Given the description of an element on the screen output the (x, y) to click on. 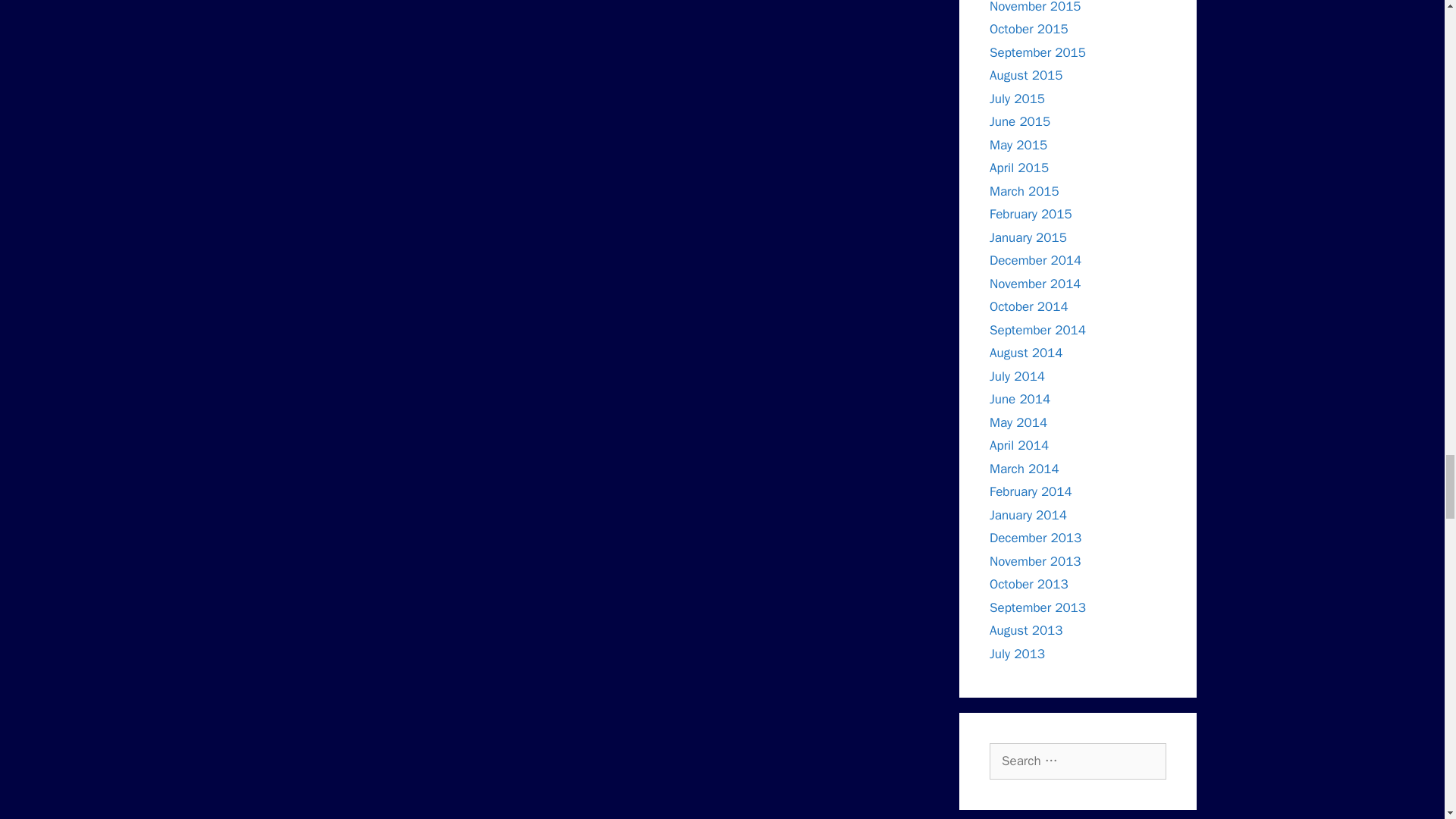
Search for: (1078, 760)
